Given the description of an element on the screen output the (x, y) to click on. 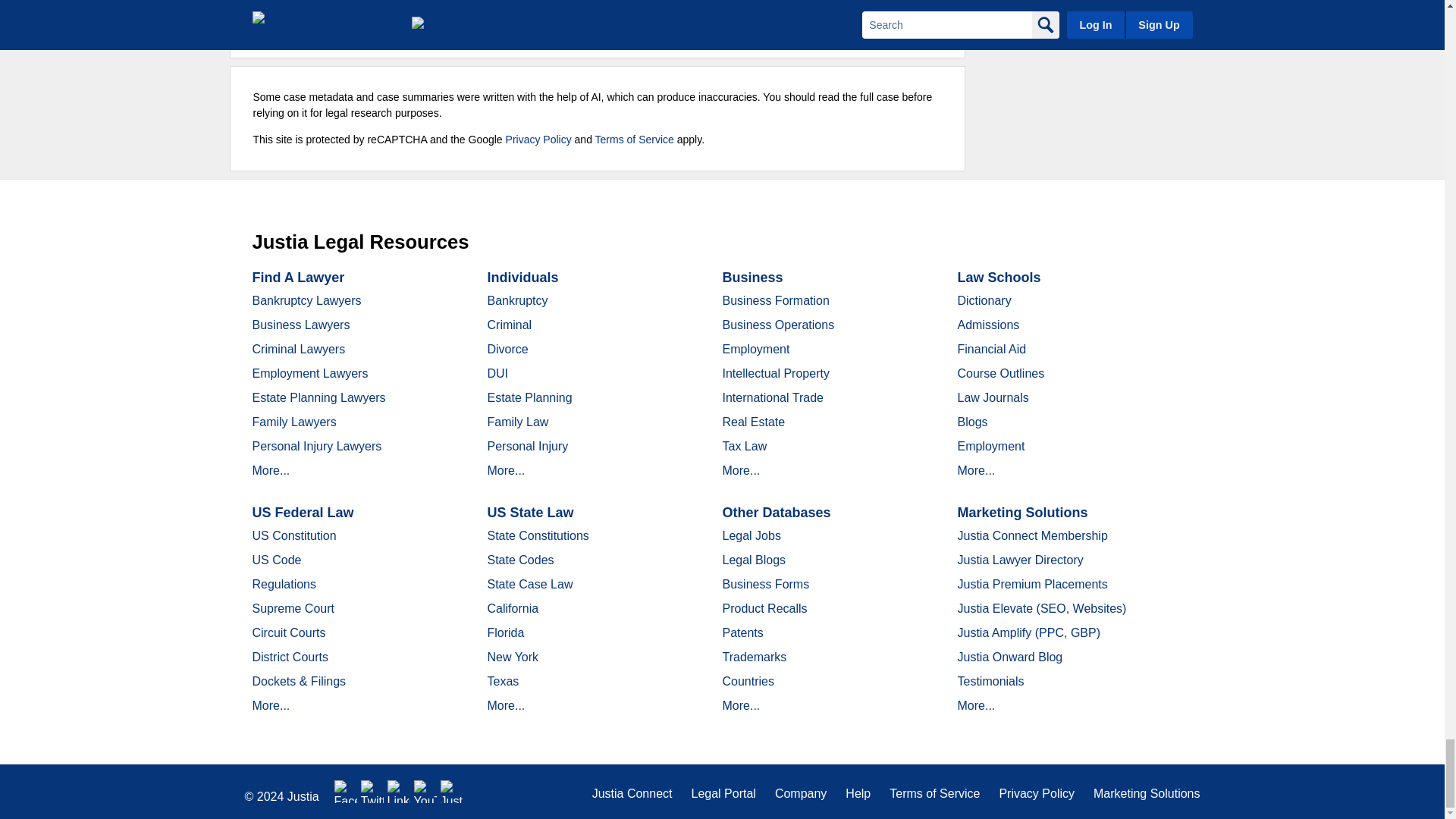
Terms of Service (634, 139)
LinkedIn (398, 791)
Twitter (372, 791)
Privacy Policy (538, 139)
Facebook (345, 791)
